Given the description of an element on the screen output the (x, y) to click on. 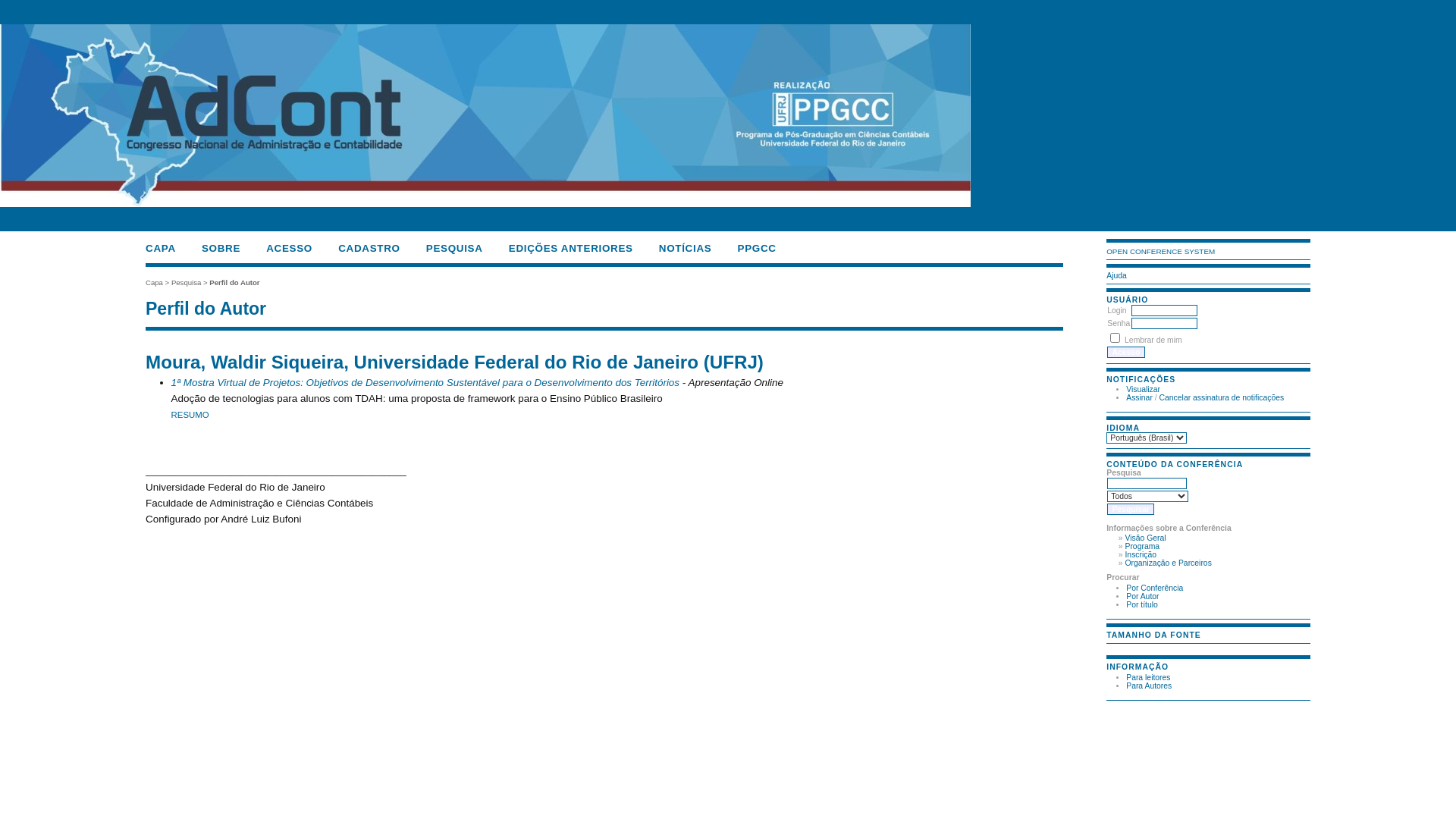
Pesquisa Element type: text (185, 282)
Ajuda Element type: text (1116, 275)
Perfil do Autor Element type: text (234, 282)
RESUMO Element type: text (190, 414)
PPGCC Element type: text (756, 248)
Para leitores Element type: text (1148, 677)
Capa Element type: text (154, 282)
Programa Element type: text (1141, 546)
Para Autores Element type: text (1148, 685)
Visualizar Element type: text (1143, 389)
OPEN CONFERENCE SYSTEM Element type: text (1160, 251)
SOBRE Element type: text (220, 248)
CAPA Element type: text (160, 248)
Por Autor Element type: text (1142, 596)
Assinar Element type: text (1139, 397)
Pesquisar Element type: text (1130, 508)
CADASTRO Element type: text (369, 248)
PESQUISA Element type: text (454, 248)
Acesso Element type: text (1125, 351)
ACESSO Element type: text (289, 248)
